Given the description of an element on the screen output the (x, y) to click on. 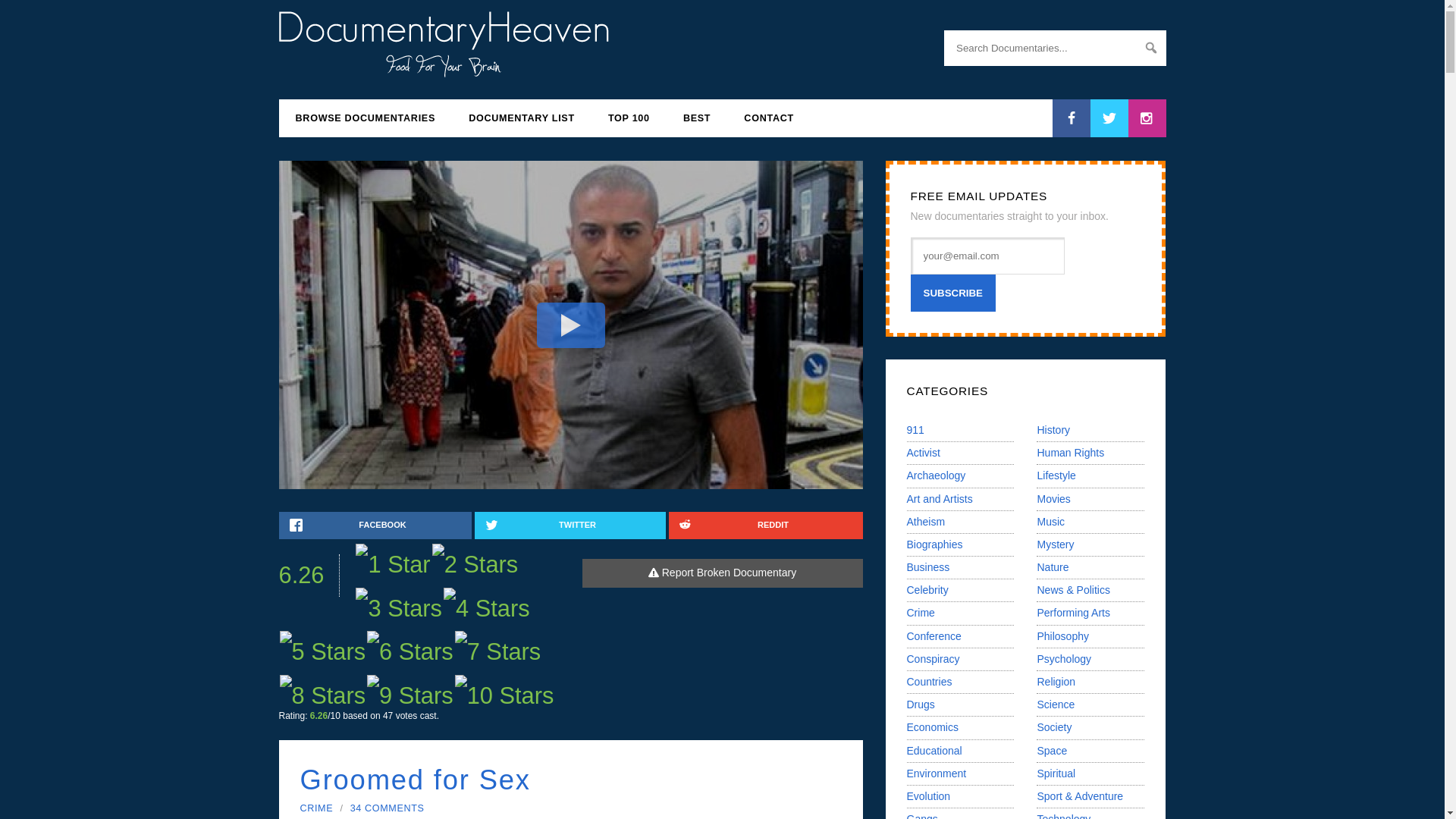
FACEBOOK (375, 524)
DOCUMENTARY LIST (521, 118)
TWITTER (569, 524)
BROWSE DOCUMENTARIES (365, 118)
10 Stars (504, 695)
4 Stars (486, 608)
8 Stars (322, 695)
7 Stars (497, 651)
CONTACT (768, 118)
Search for: (1054, 48)
Subscribe (952, 293)
TOP 100 (628, 118)
BEST (696, 118)
Documentary Heaven (443, 67)
6 Stars (409, 651)
